Given the description of an element on the screen output the (x, y) to click on. 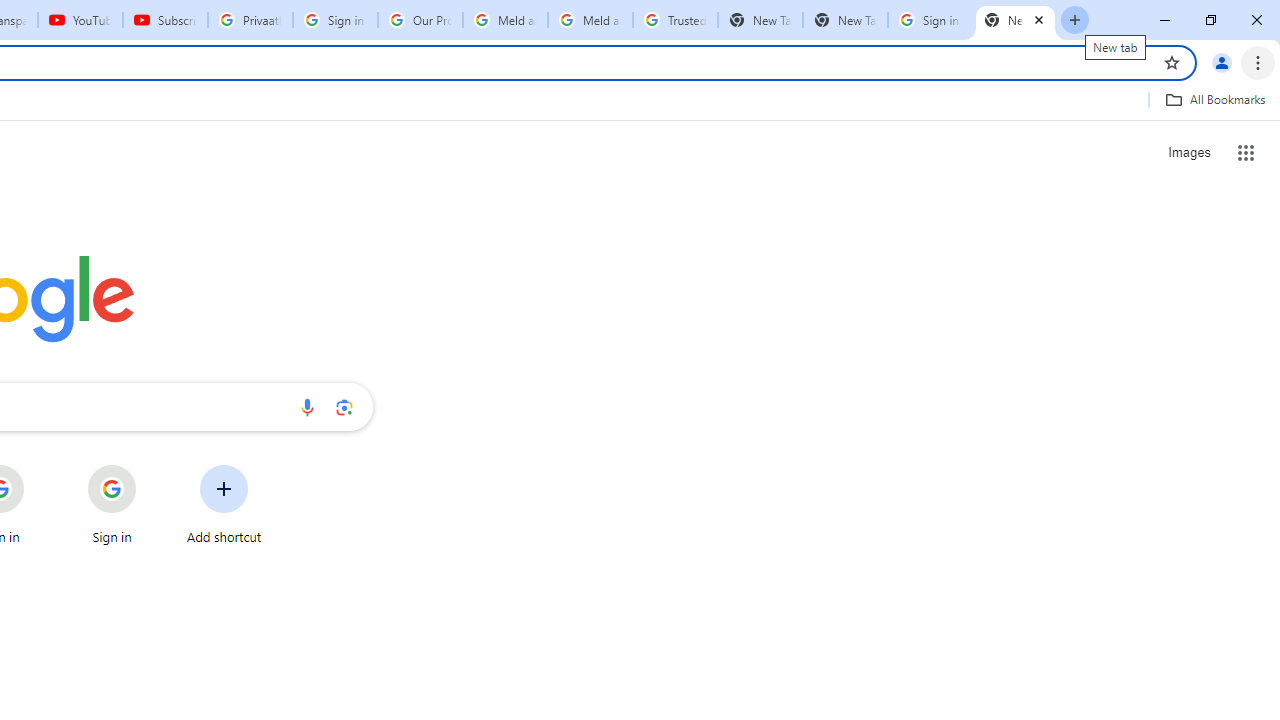
Sign in - Google Accounts (335, 20)
Sign in - Google Accounts (930, 20)
New Tab (1015, 20)
